Given the description of an element on the screen output the (x, y) to click on. 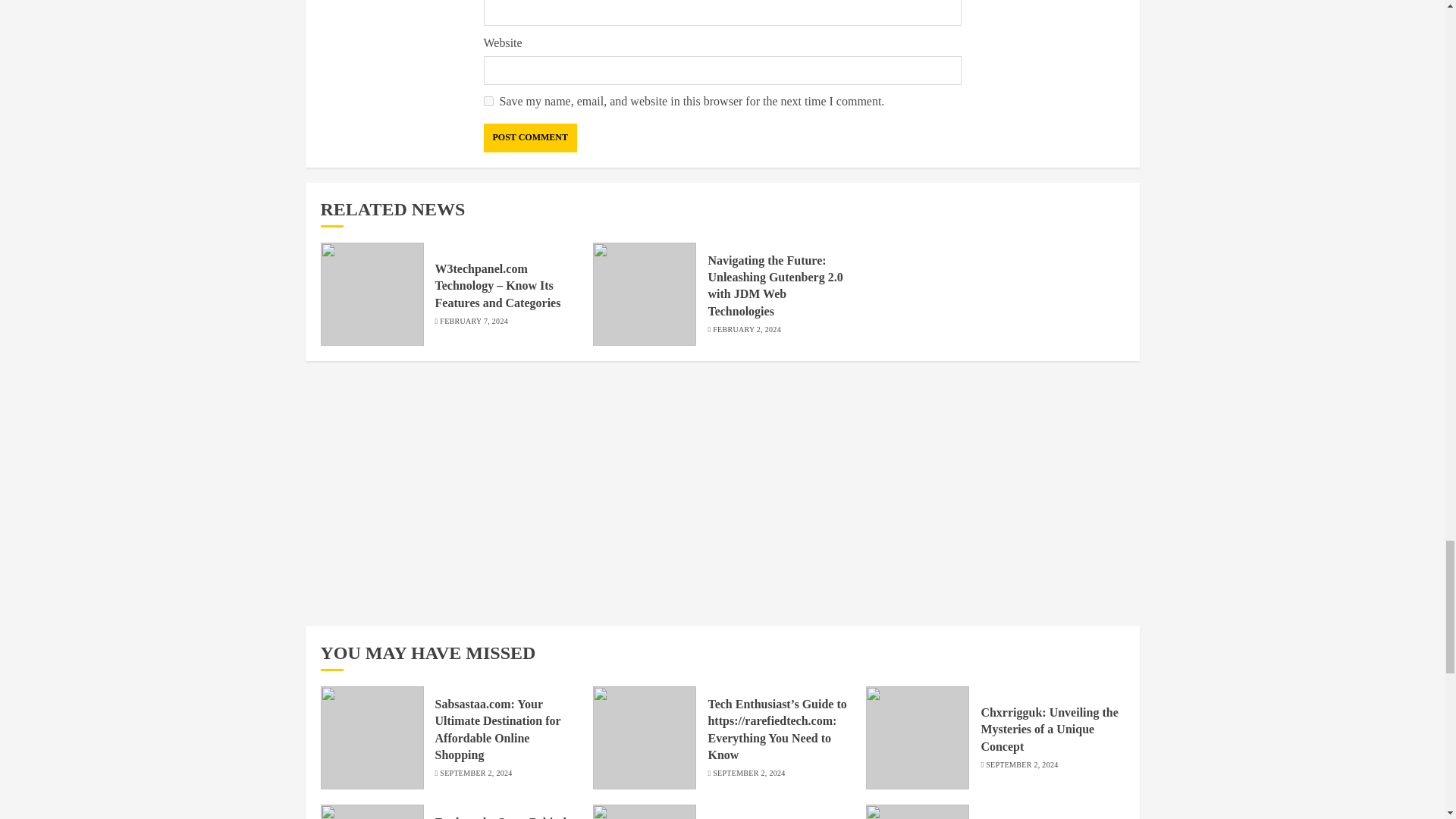
Post Comment (529, 137)
Post Comment (529, 137)
yes (488, 101)
FEBRUARY 2, 2024 (746, 329)
FEBRUARY 7, 2024 (473, 321)
